Given the description of an element on the screen output the (x, y) to click on. 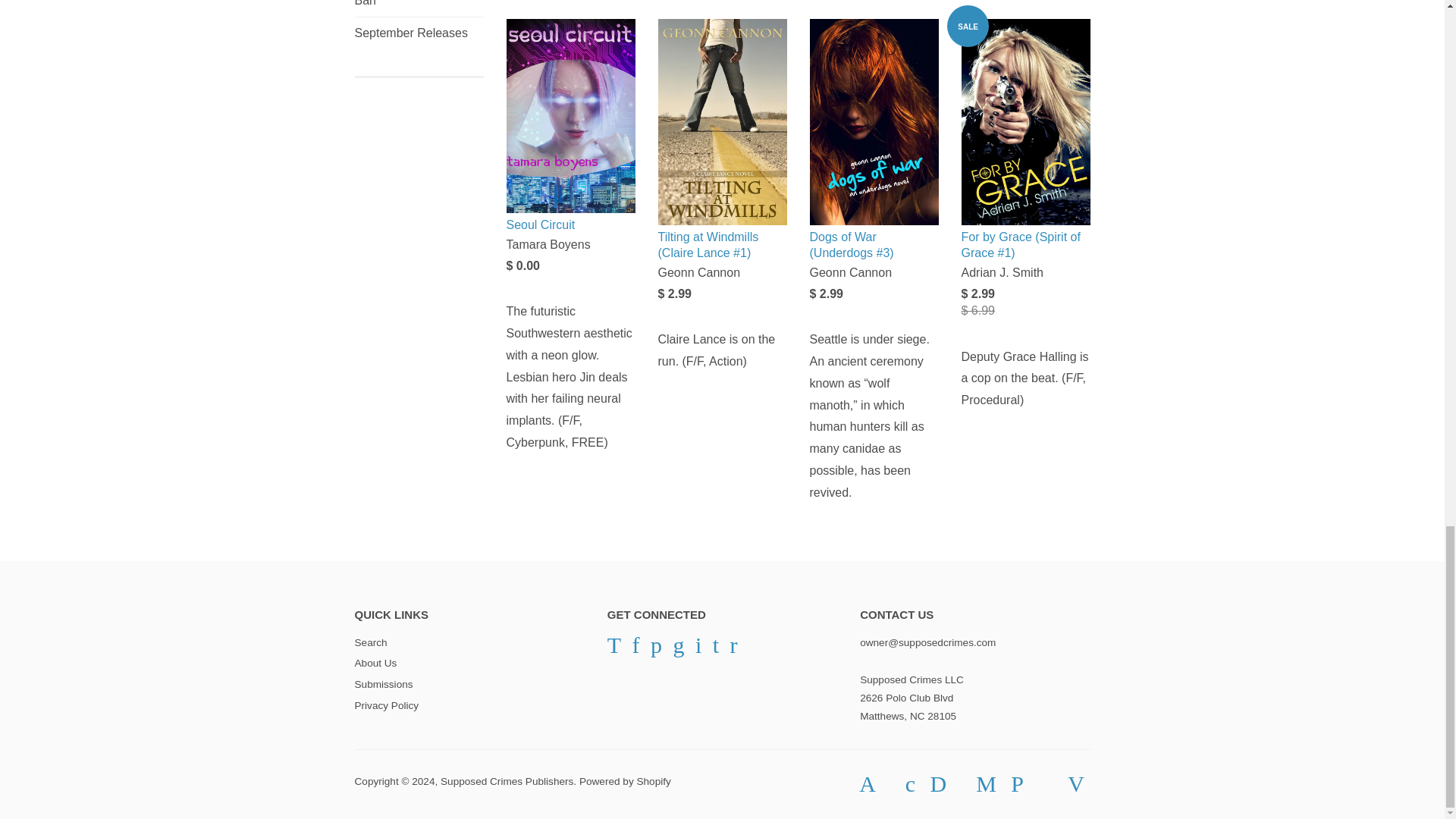
Supposed Crimes Publishers on Google Plus (678, 649)
Supposed Crimes Publishers on Pinterest (656, 649)
Supposed Crimes Publishers on Twitter (614, 649)
